Given the description of an element on the screen output the (x, y) to click on. 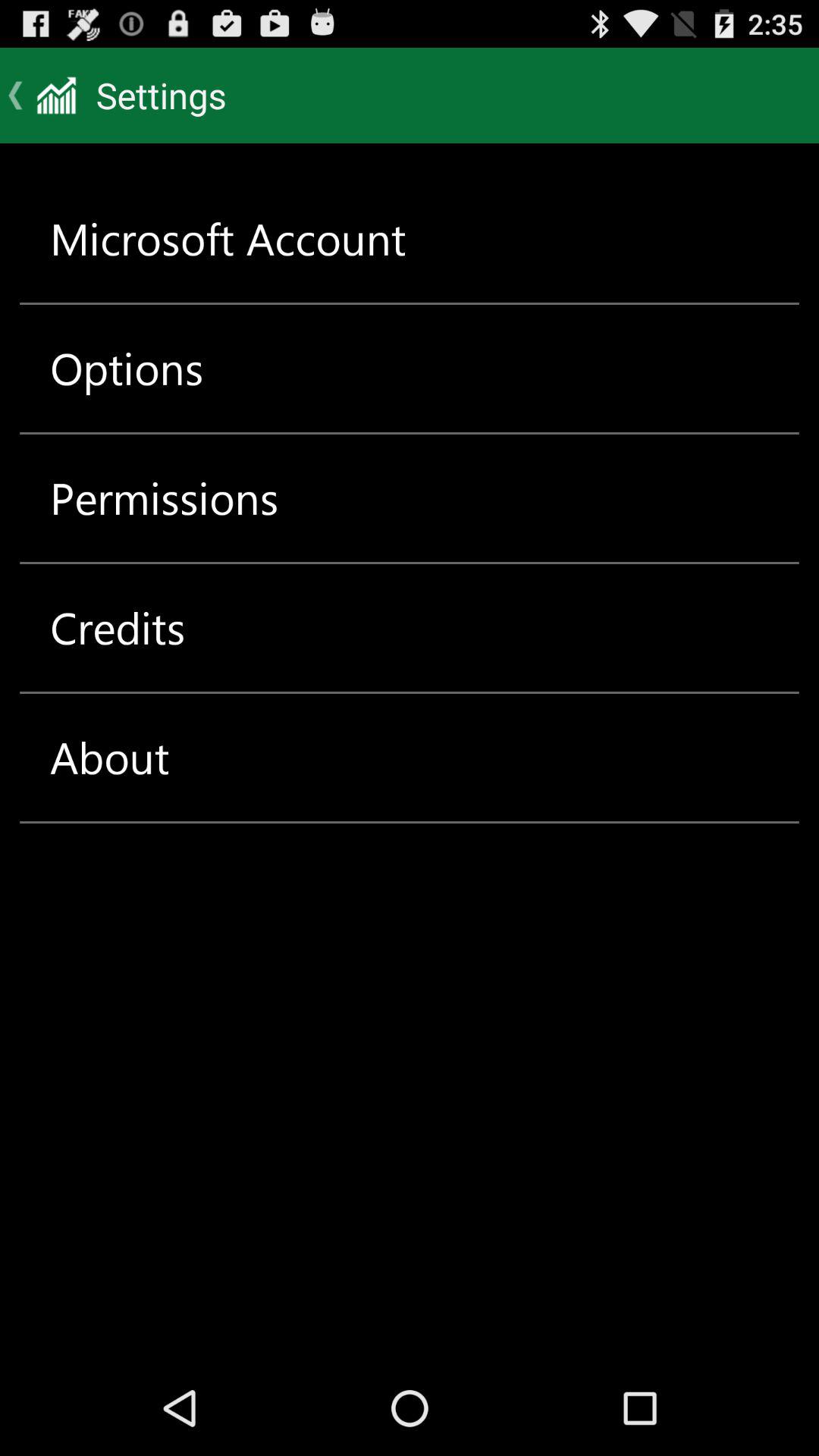
launch options (126, 368)
